Given the description of an element on the screen output the (x, y) to click on. 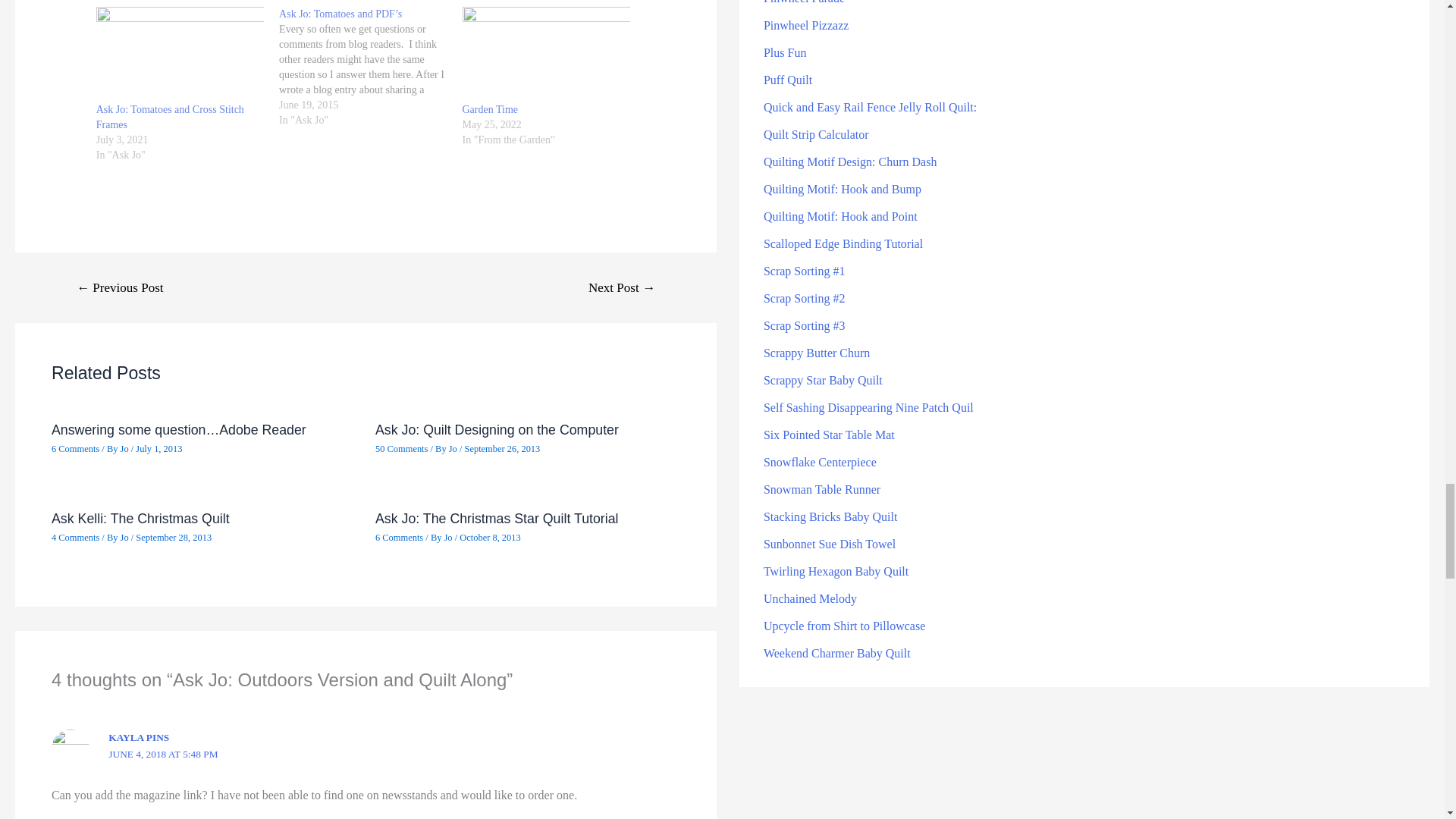
Garden Time (490, 109)
Ask Jo:  Tomatoes and Cross Stitch Frames (179, 54)
View all posts by Jo (125, 448)
Garden Time (546, 54)
View all posts by Jo (449, 537)
View all posts by Jo (125, 537)
Ask Jo:  Tomatoes and Cross Stitch Frames (170, 117)
View all posts by Jo (454, 448)
